Given the description of an element on the screen output the (x, y) to click on. 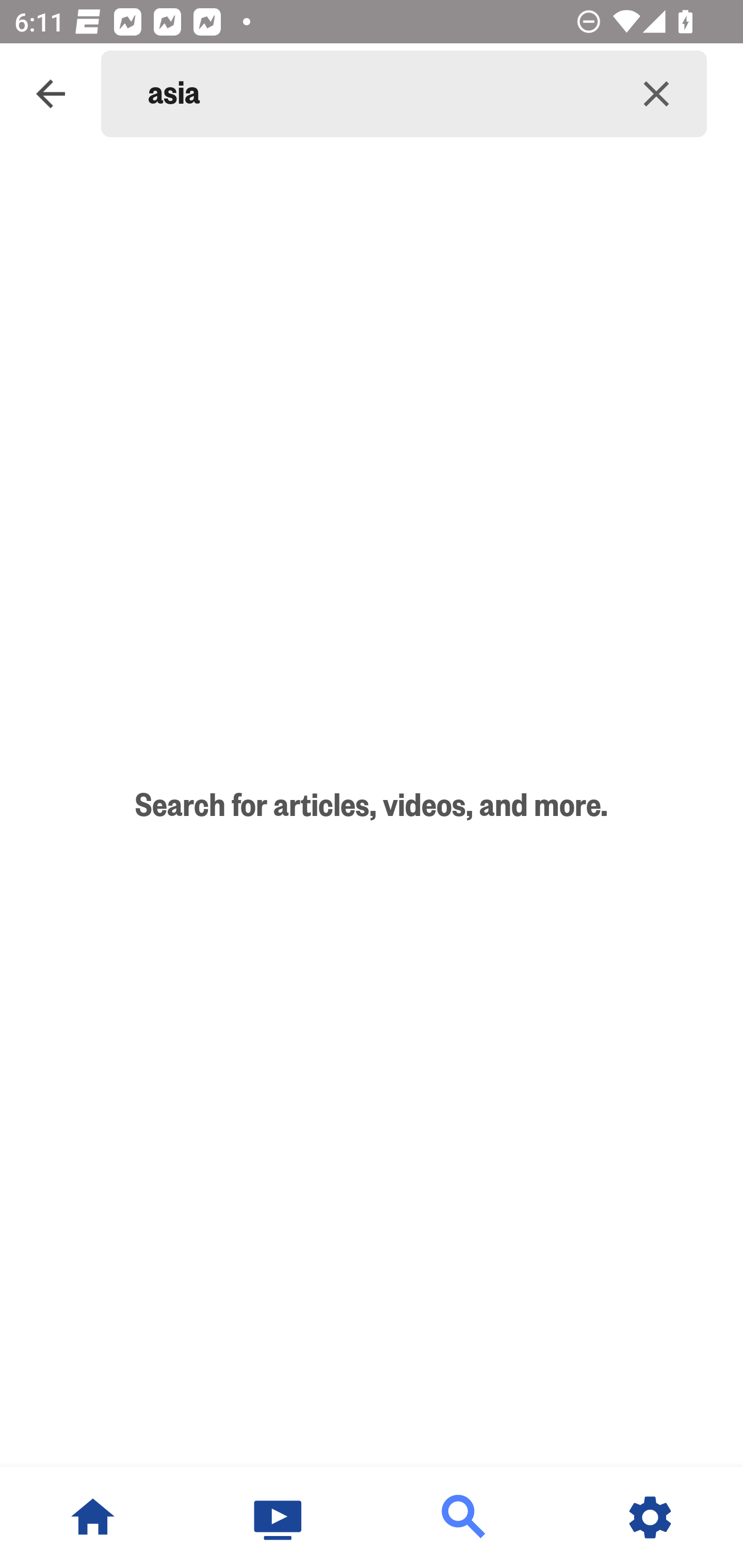
Navigate up (50, 93)
Clear query (656, 93)
asia (376, 94)
NBC News Home (92, 1517)
Watch (278, 1517)
Settings (650, 1517)
